Given the description of an element on the screen output the (x, y) to click on. 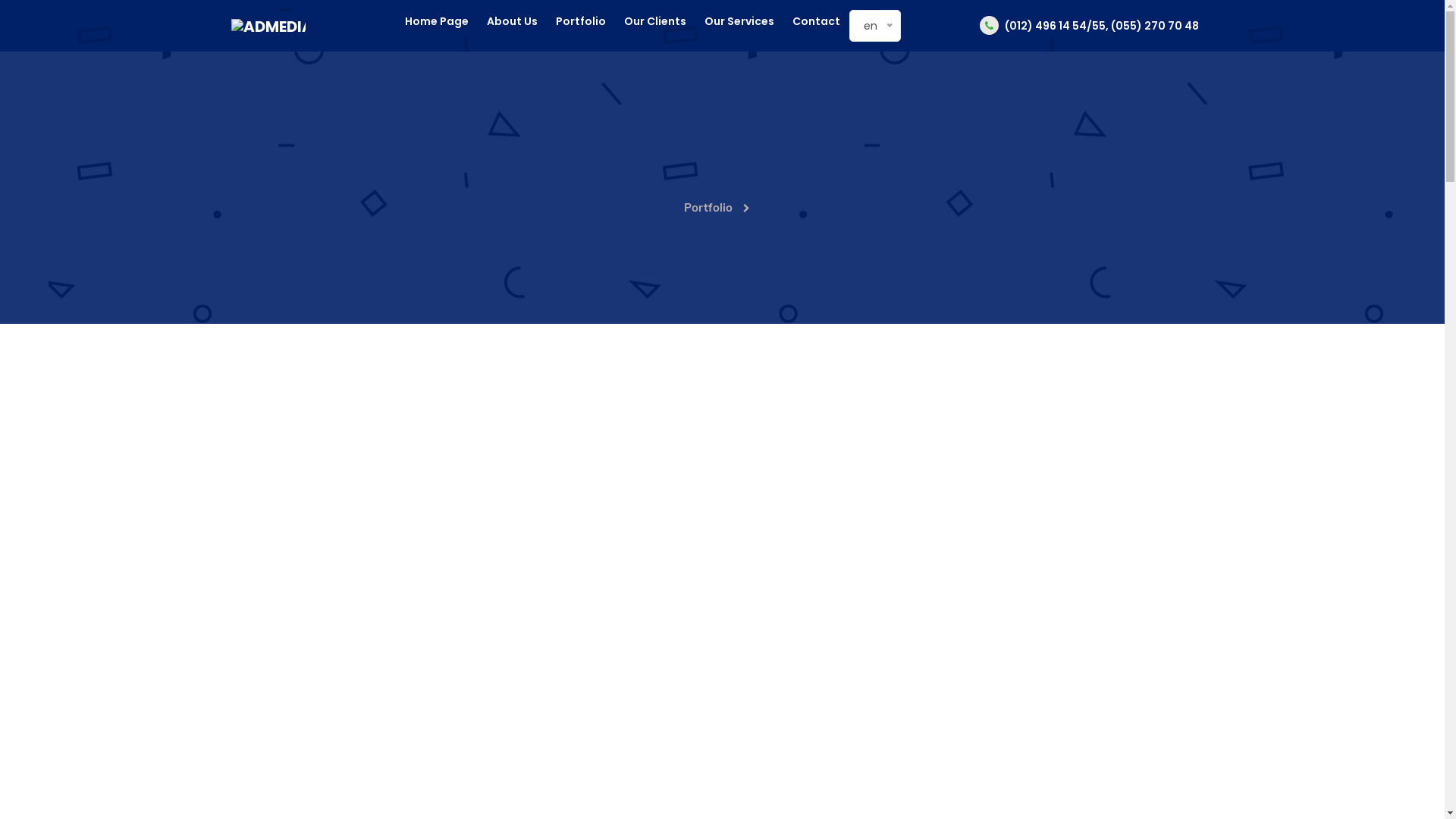
(012) 496 14 54/55, (055) 270 70 48 Element type: text (1088, 25)
About Us Element type: text (511, 21)
Portfolio Element type: text (580, 21)
Portfolio Element type: text (720, 207)
Our Services Element type: text (739, 21)
en Element type: text (870, 25)
Home Page Element type: text (436, 21)
Our Clients Element type: text (655, 21)
Contact Element type: text (816, 21)
